Given the description of an element on the screen output the (x, y) to click on. 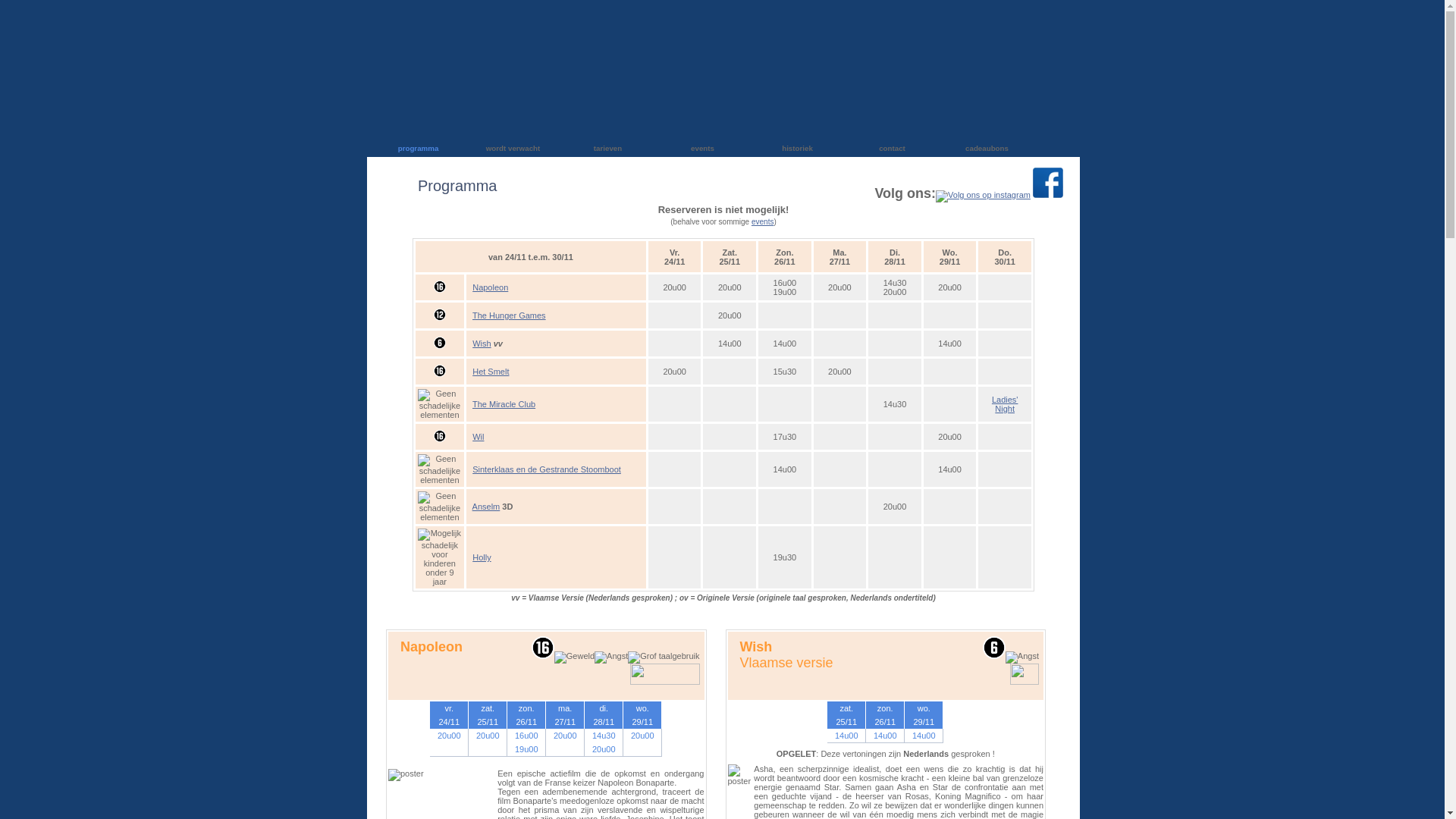
The Miracle Club Element type: text (503, 403)
Holly Element type: text (481, 556)
Angst Element type: hover (610, 657)
Angst Element type: hover (1021, 657)
tarieven Element type: text (607, 148)
The Hunger Games Element type: text (509, 315)
events Element type: text (762, 221)
events Element type: text (702, 148)
Ladies'
Night Element type: text (1004, 404)
Sinterklaas en de Gestrande Stoomboot Element type: text (546, 468)
Mogelijk schadelijk voor kinderen onder 6 jaar Element type: hover (439, 342)
wordt verwacht Element type: text (512, 148)
Mogelijk schadelijk voor kinderen onder 16 jaar Element type: hover (439, 370)
Mogelijk schadelijk voor kinderen onder 16 jaar Element type: hover (439, 286)
Mogelijk schadelijk voor kinderen onder 16 jaar Element type: hover (439, 435)
contact Element type: text (891, 148)
Mogelijk schadelijk voor kinderen onder 12 jaar Element type: hover (439, 314)
Mogelijk schadelijk voor kinderen onder 6 jaar Element type: hover (993, 647)
cadeaubons Element type: text (986, 148)
Mogelijk schadelijk voor kinderen onder 16 jaar Element type: hover (542, 647)
Wish Element type: text (481, 343)
Napoleon Element type: text (490, 286)
Mogelijk schadelijk voor kinderen onder 9 jaar Element type: hover (439, 557)
Grof taalgebruik Element type: hover (663, 657)
Geen schadelijke elementen Element type: hover (439, 506)
Anselm Element type: text (486, 506)
Wil Element type: text (477, 436)
Het Smelt Element type: text (490, 371)
historiek Element type: text (797, 148)
Geweld Element type: hover (574, 657)
programma Element type: text (418, 148)
Geen schadelijke elementen Element type: hover (439, 404)
Geen schadelijke elementen Element type: hover (439, 469)
